Given the description of an element on the screen output the (x, y) to click on. 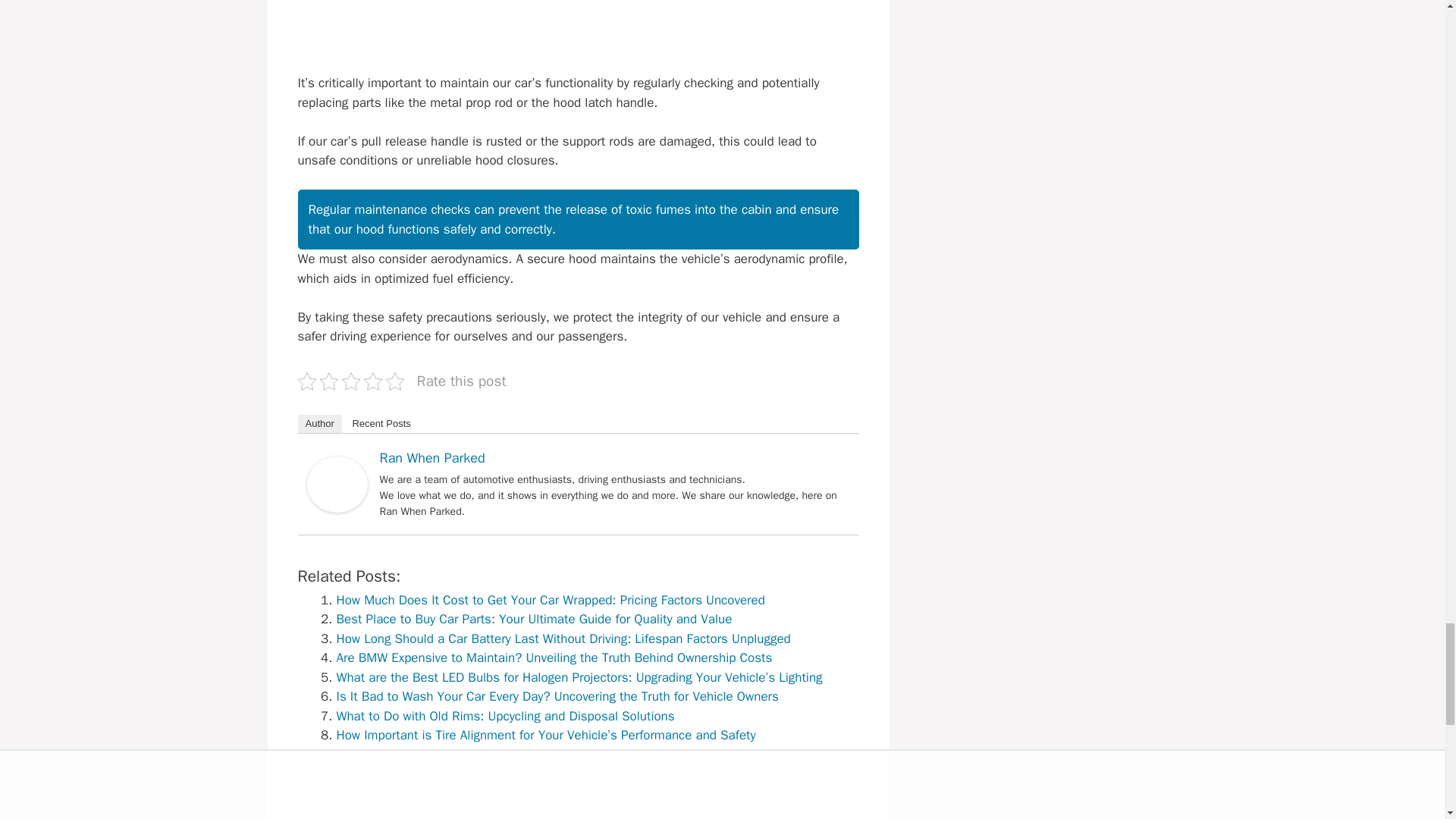
What to Do with Old Rims: Upcycling and Disposal Solutions (505, 715)
Ran When Parked (335, 508)
